Given the description of an element on the screen output the (x, y) to click on. 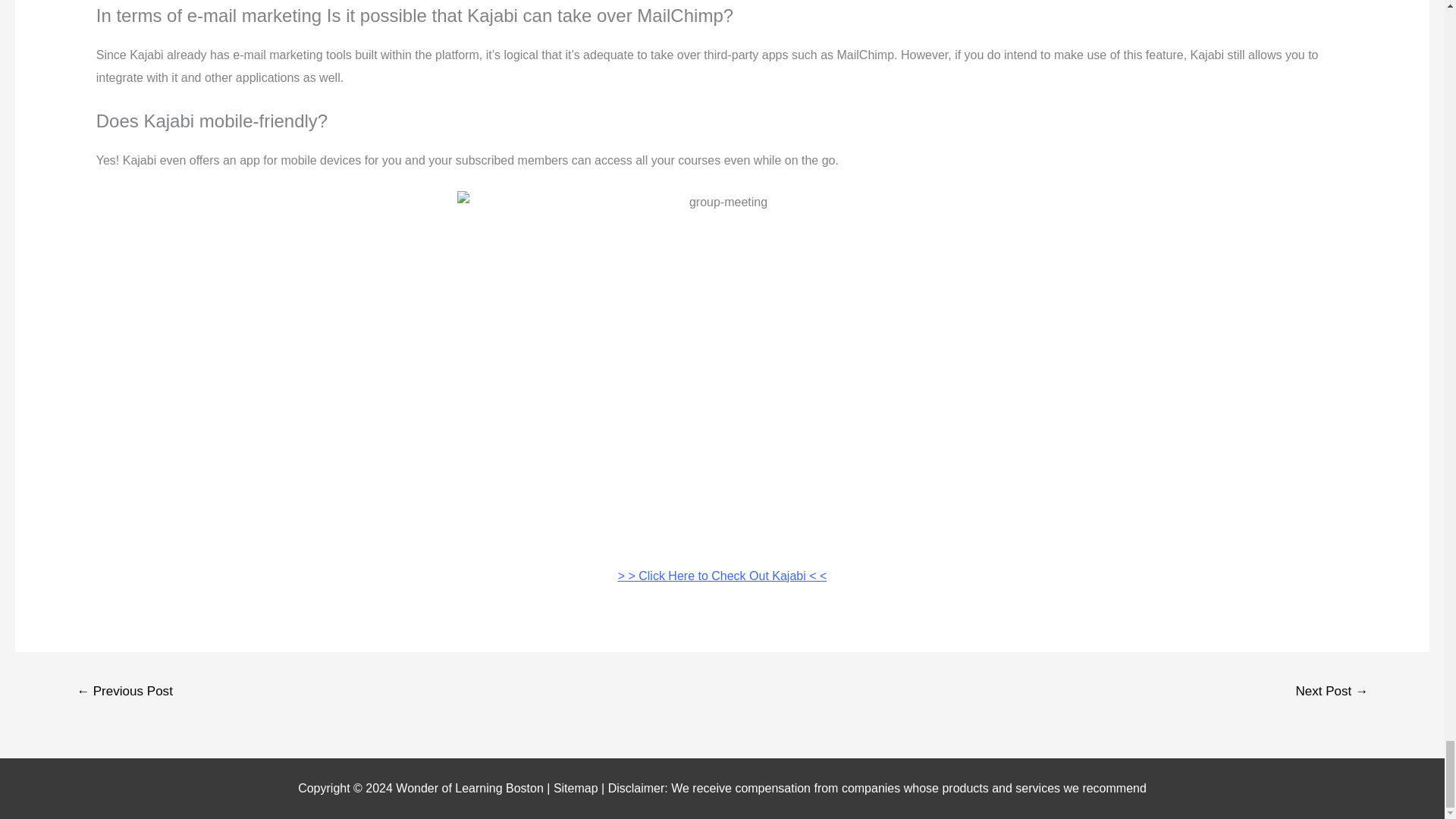
Sitemap (577, 788)
